Given the description of an element on the screen output the (x, y) to click on. 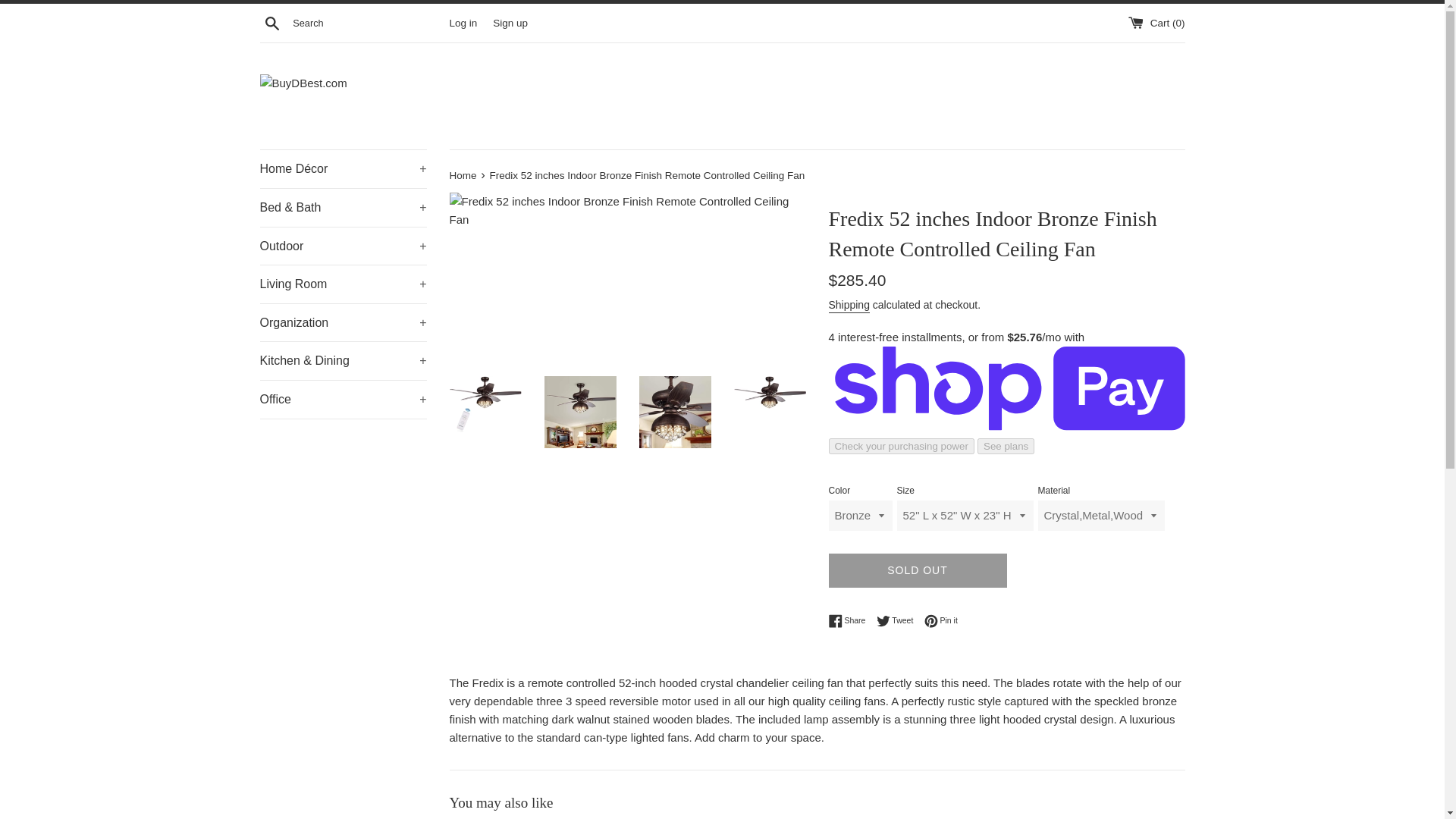
Log in (462, 21)
Search (271, 21)
Sign up (510, 21)
Pin on Pinterest (941, 621)
Tweet on Twitter (898, 621)
Share on Facebook (850, 621)
Back to the frontpage (463, 174)
